Given the description of an element on the screen output the (x, y) to click on. 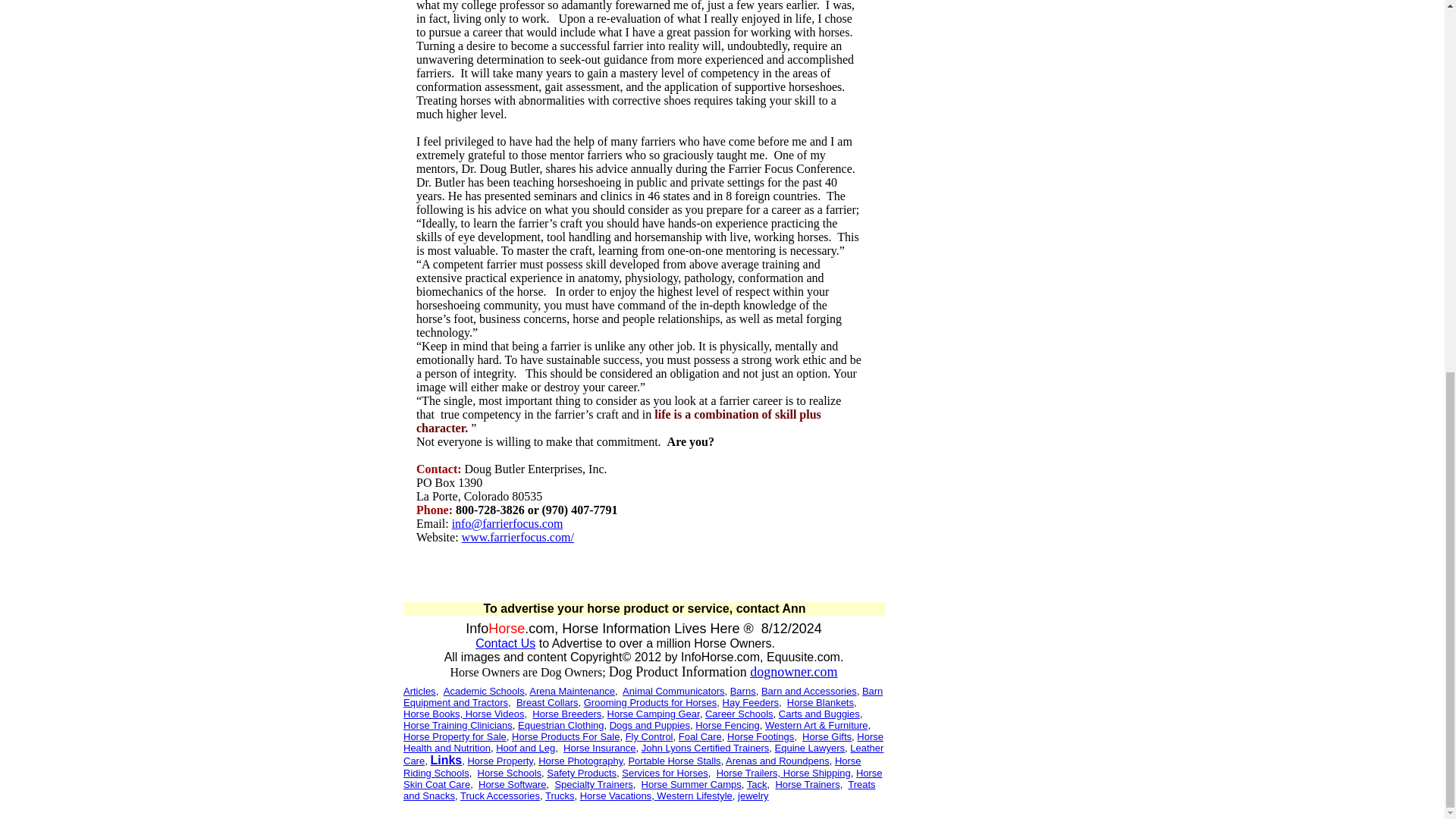
Horse Insurance (598, 747)
Contact Us (505, 643)
John Lyons Certified Trainers (706, 747)
Arena Maintenance (571, 689)
Horse Fencing (727, 724)
Dogs and Puppies (650, 724)
Hay Feeders (750, 701)
Horse Blankets (820, 701)
Horse Property for Sale (454, 735)
Horse Camping Gear (653, 712)
